Given the description of an element on the screen output the (x, y) to click on. 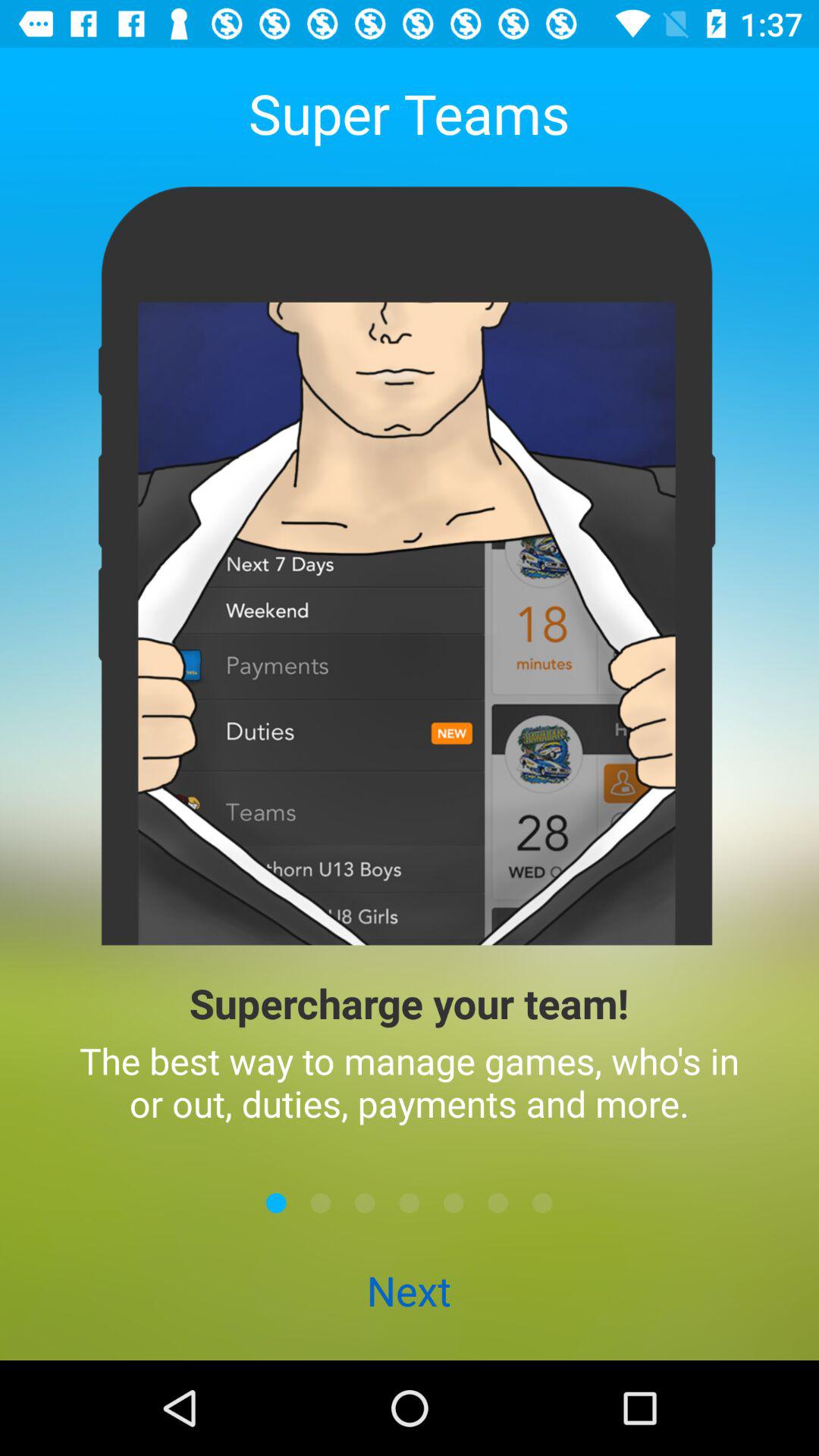
next screen (320, 1203)
